Given the description of an element on the screen output the (x, y) to click on. 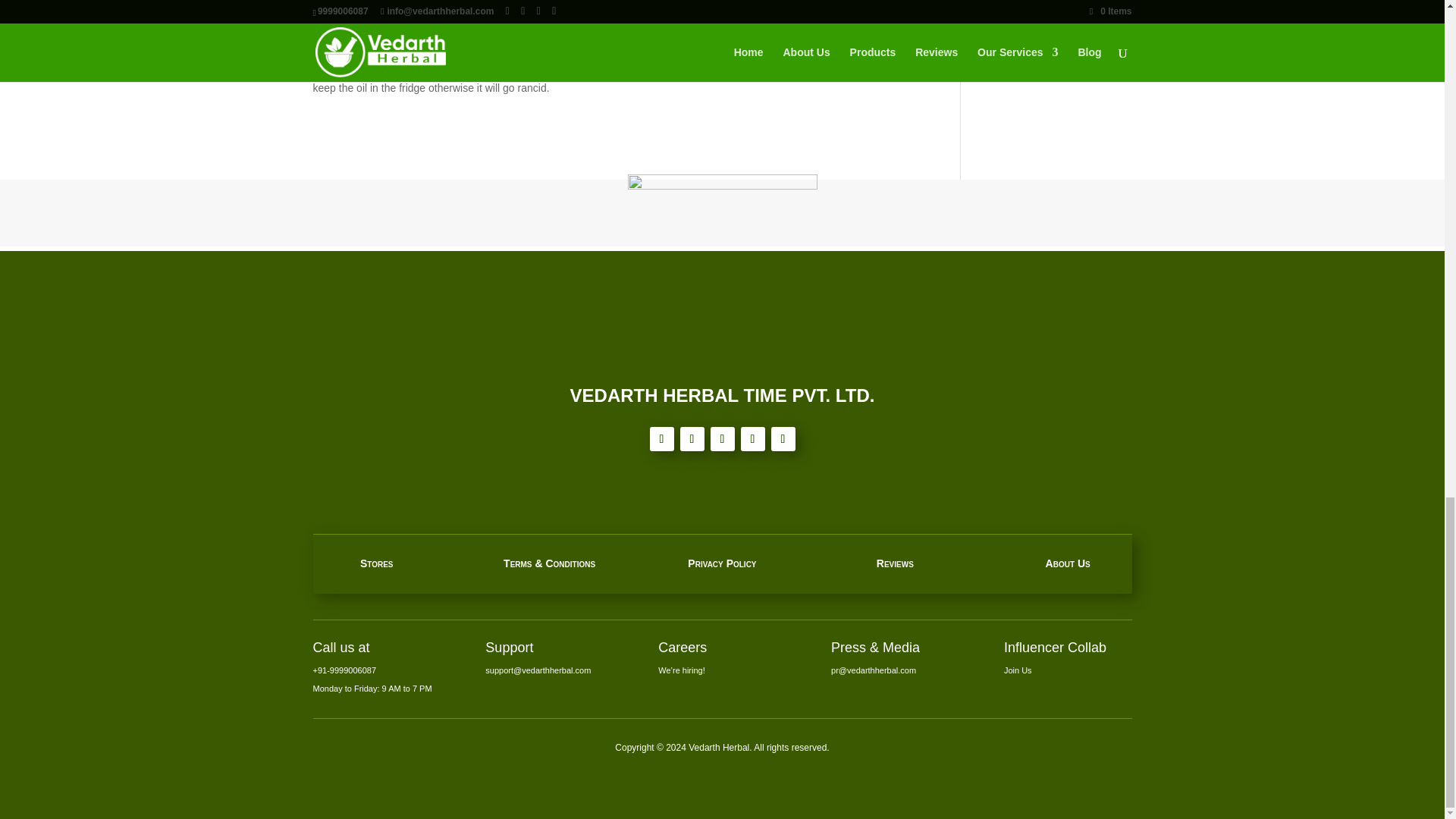
Asset 8icongreen250 (721, 268)
Follow on Facebook (660, 438)
Follow on Pinterest (782, 438)
Privacy Policy (721, 563)
Follow on X (691, 438)
Follow on Youtube (721, 438)
Stores (376, 563)
Reviews (895, 563)
Follow on Instagram (751, 438)
